Given the description of an element on the screen output the (x, y) to click on. 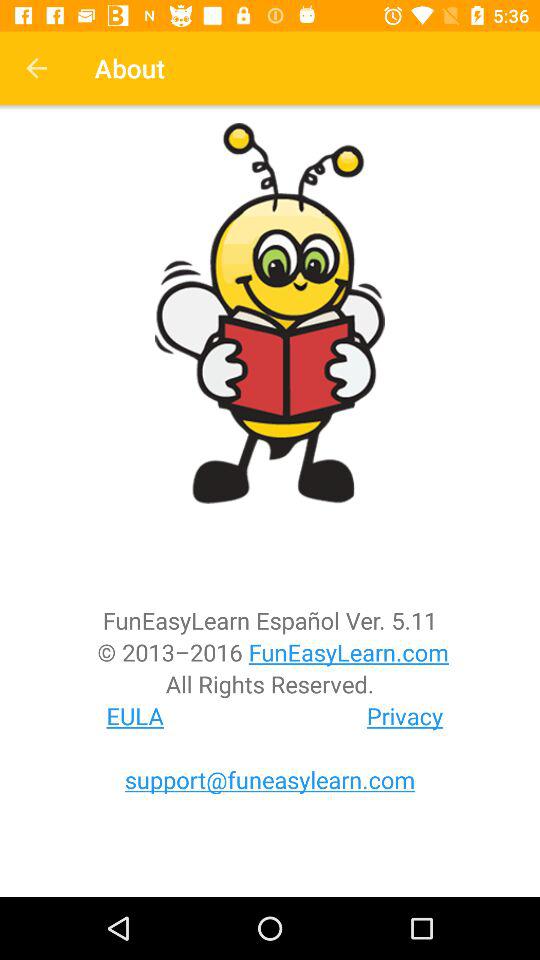
tap the 2013 2016 funeasylearn icon (270, 652)
